Given the description of an element on the screen output the (x, y) to click on. 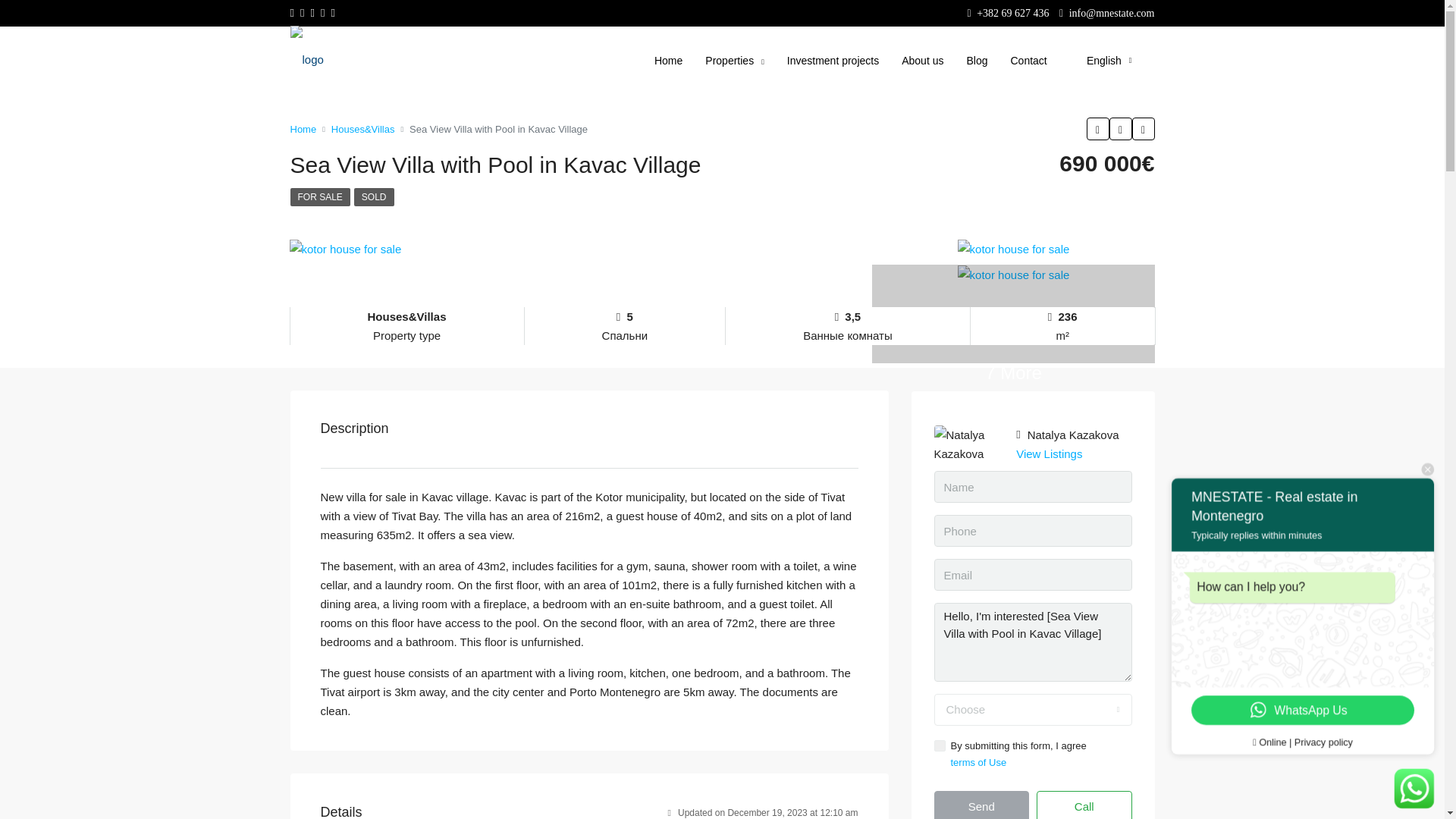
English (1100, 60)
English (1100, 60)
About us (922, 60)
Investment projects (832, 60)
Properties (734, 61)
